Given the description of an element on the screen output the (x, y) to click on. 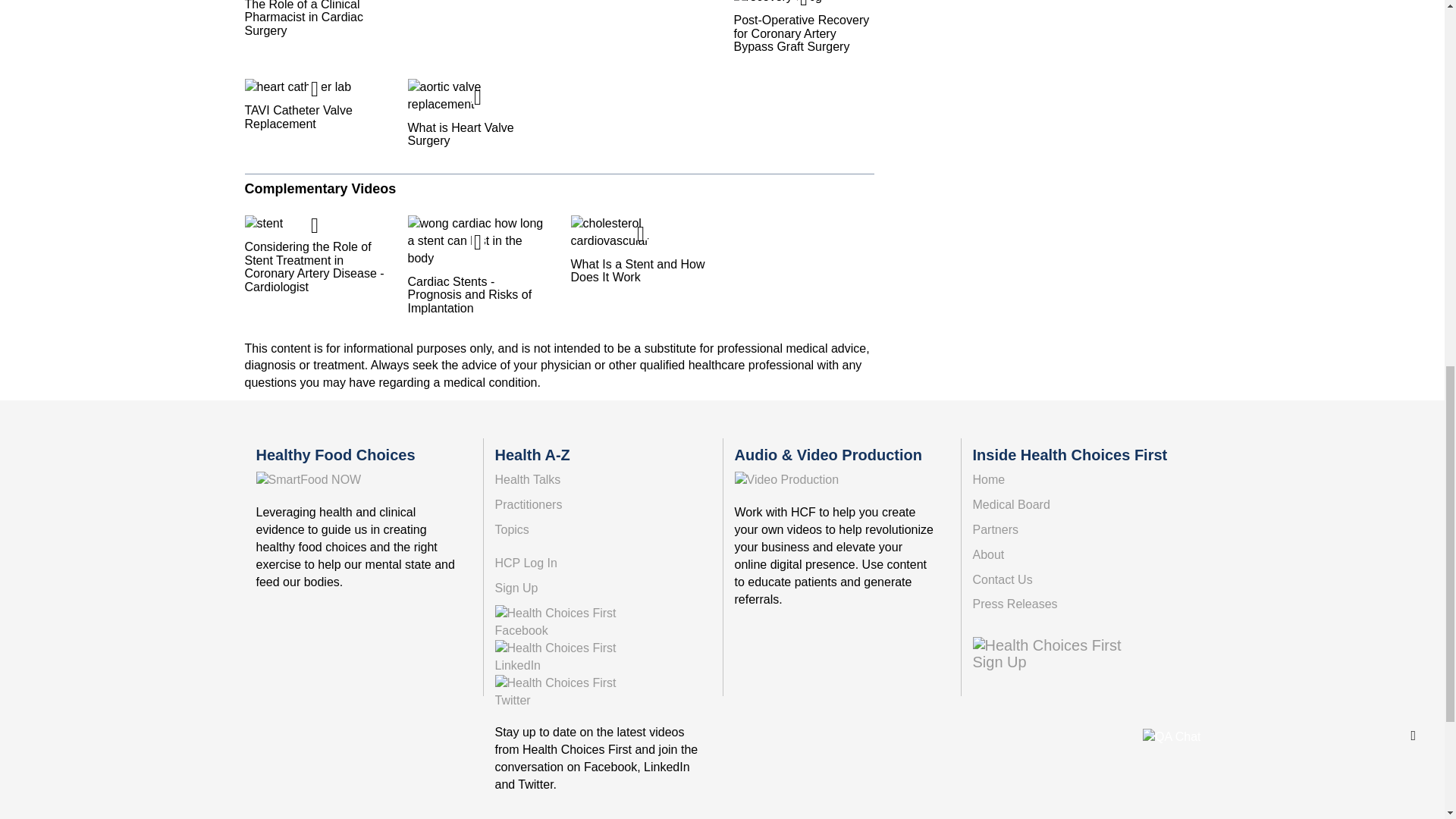
The Role of a Clinical Pharmacist in Cardiac Surgery (314, 18)
What is Heart Valve Surgery (477, 113)
What Is a Stent and How Does It Work (640, 249)
Cardiac Stents - Prognosis and Risks of Implantation (477, 264)
TAVI Catheter Valve Replacement (314, 104)
